Given the description of an element on the screen output the (x, y) to click on. 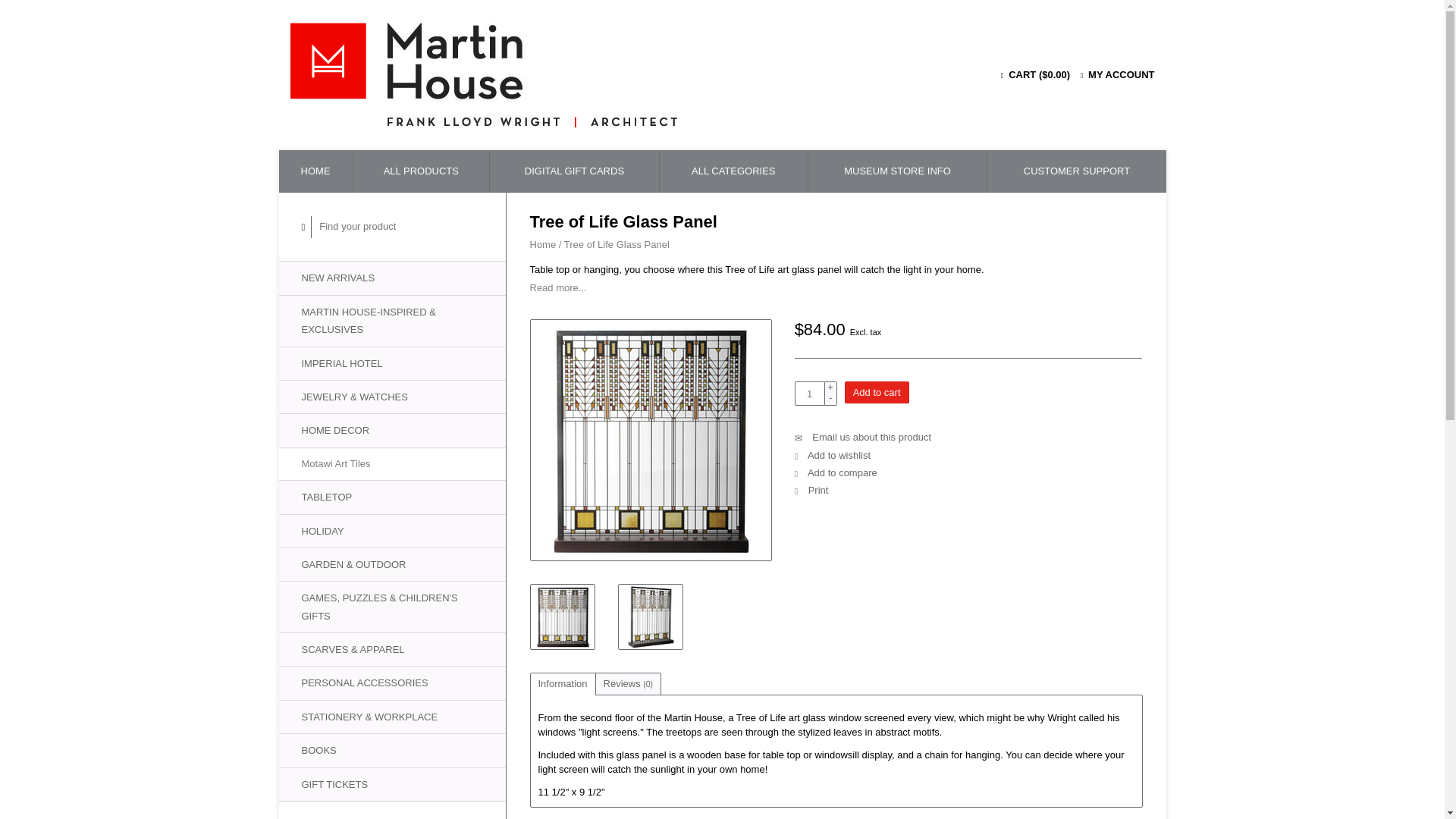
Frank Lloyd Wright's Martin House Museum Store (598, 74)
Home (542, 244)
BOOKS (392, 750)
Digital Gift Cards (574, 170)
Museum Store Info (897, 170)
Home Decor (392, 430)
Email us about this product (862, 437)
Add to wishlist (832, 455)
GIFT TICKETS (392, 784)
HOME DECOR (392, 430)
DIGITAL GIFT CARDS (574, 170)
Imperial Hotel (392, 363)
Holiday (392, 530)
HOME (315, 170)
Personal Accessories (392, 682)
